Given the description of an element on the screen output the (x, y) to click on. 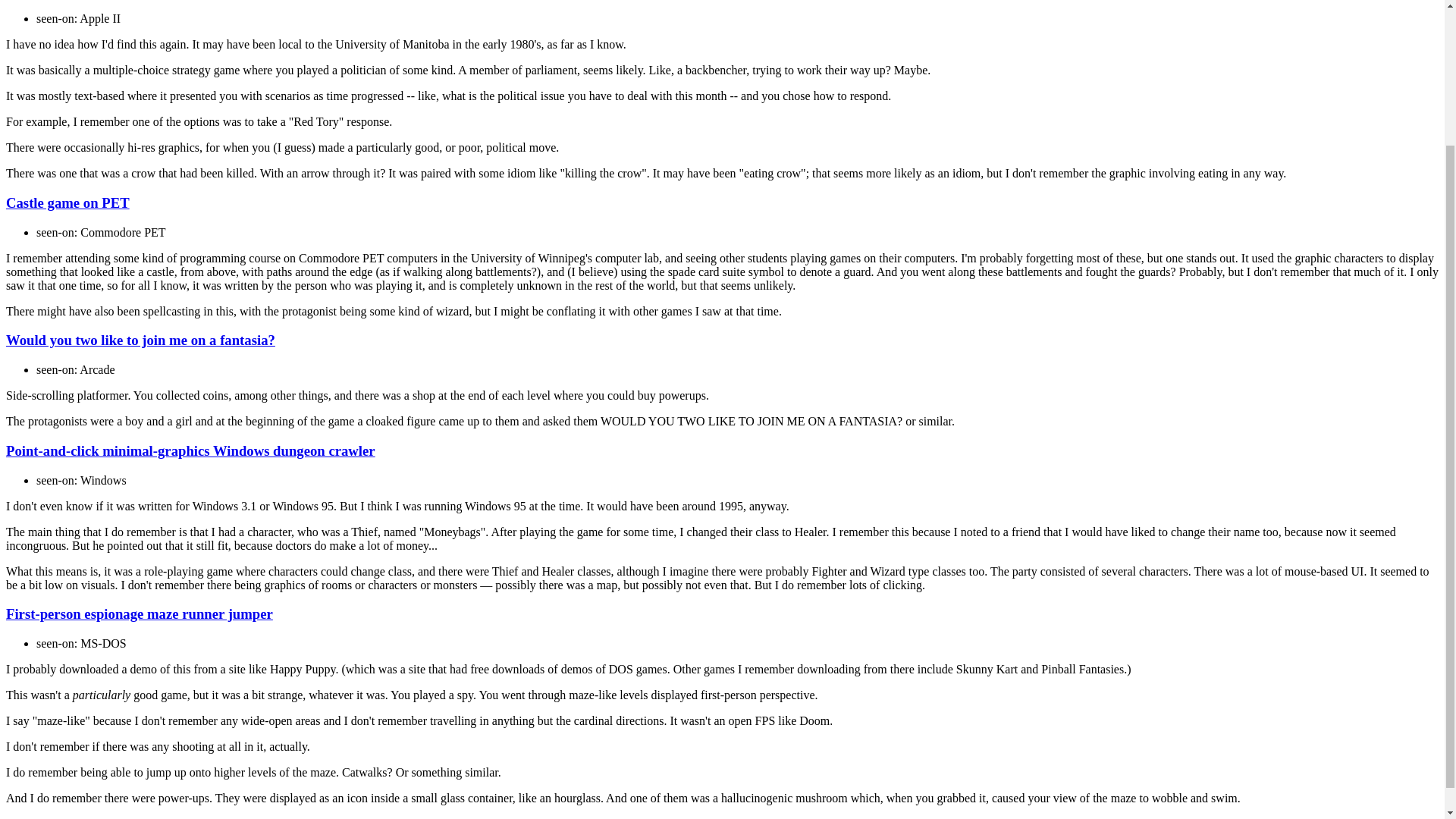
First-person espionage maze runner jumper (139, 613)
Castle game on PET (67, 202)
Point-and-click minimal-graphics Windows dungeon crawler (190, 450)
Would you two like to join me on a fantasia? (140, 340)
